Given the description of an element on the screen output the (x, y) to click on. 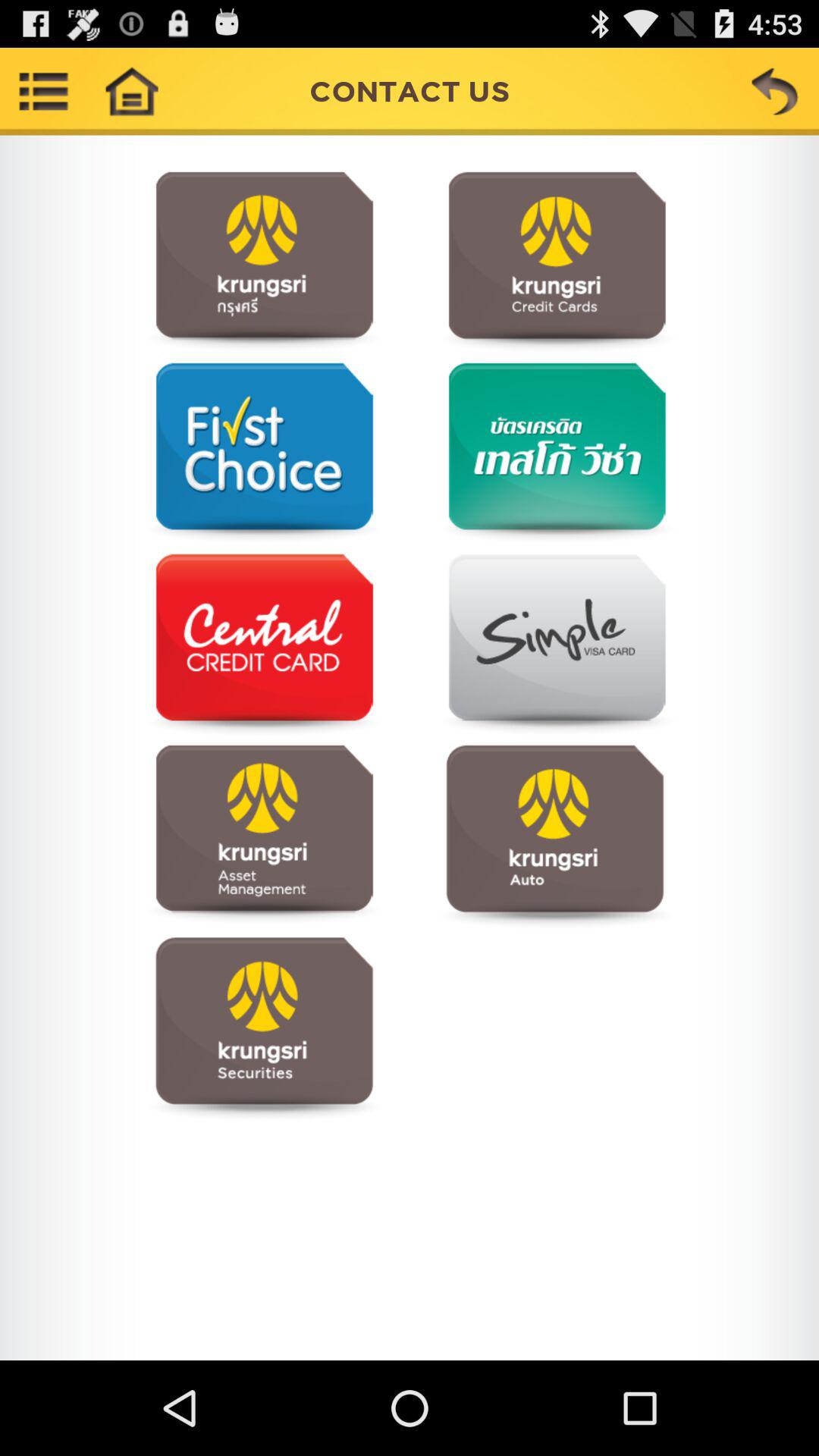
show menu (43, 91)
